Given the description of an element on the screen output the (x, y) to click on. 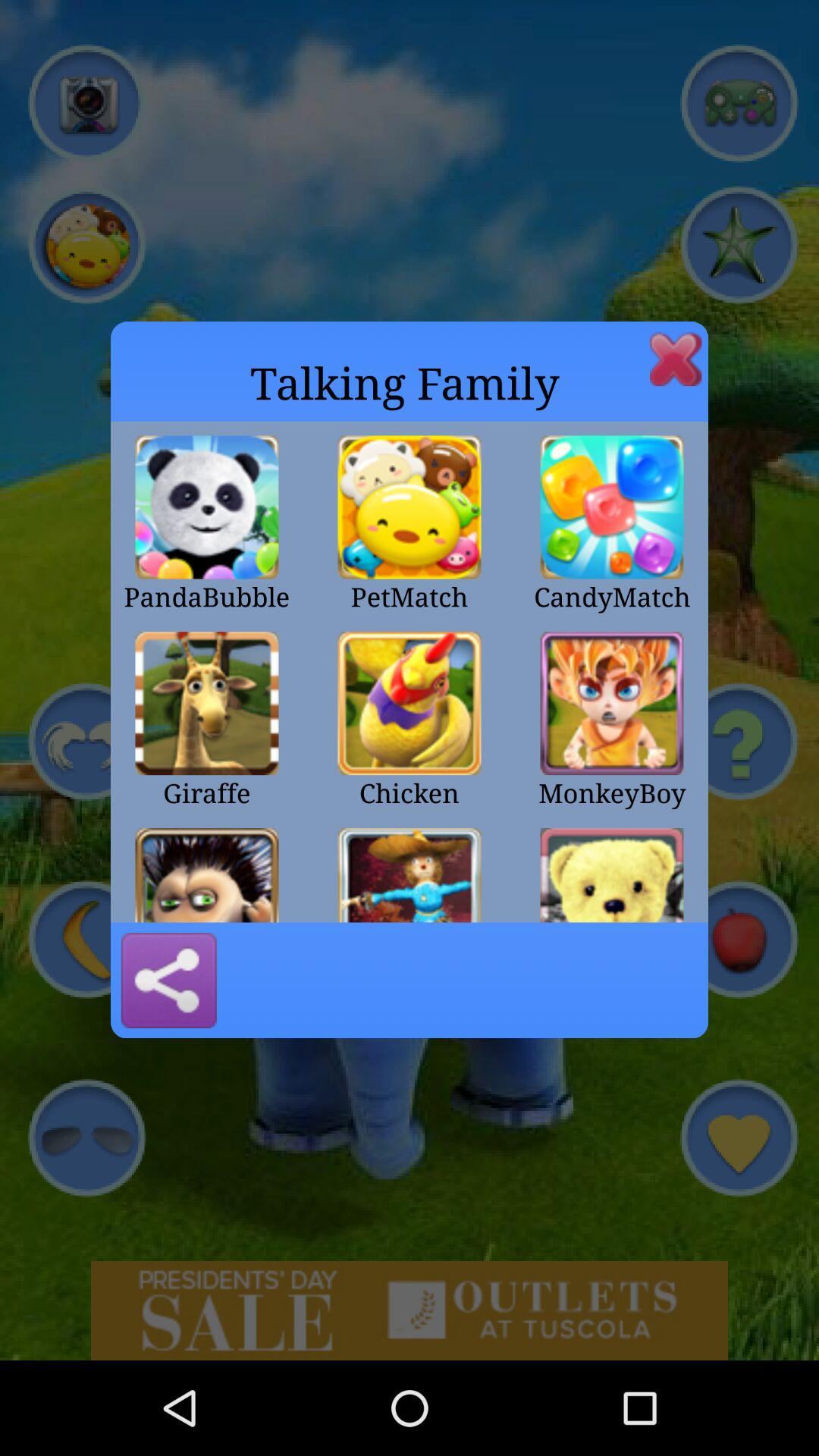
launch icon next to the talking family icon (675, 359)
